Given the description of an element on the screen output the (x, y) to click on. 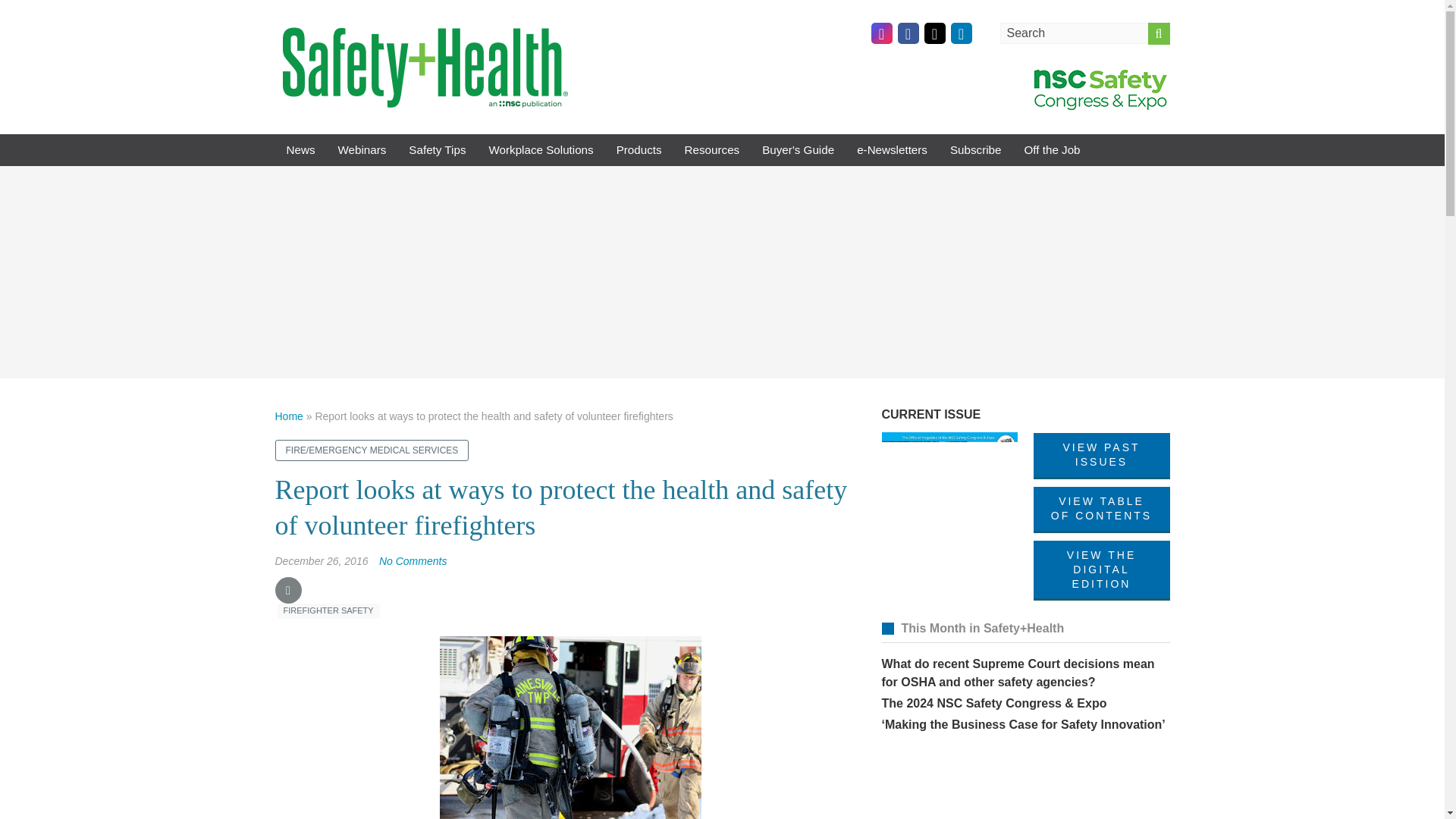
News (300, 150)
Webinars (361, 150)
Safety Tips (437, 150)
